Given the description of an element on the screen output the (x, y) to click on. 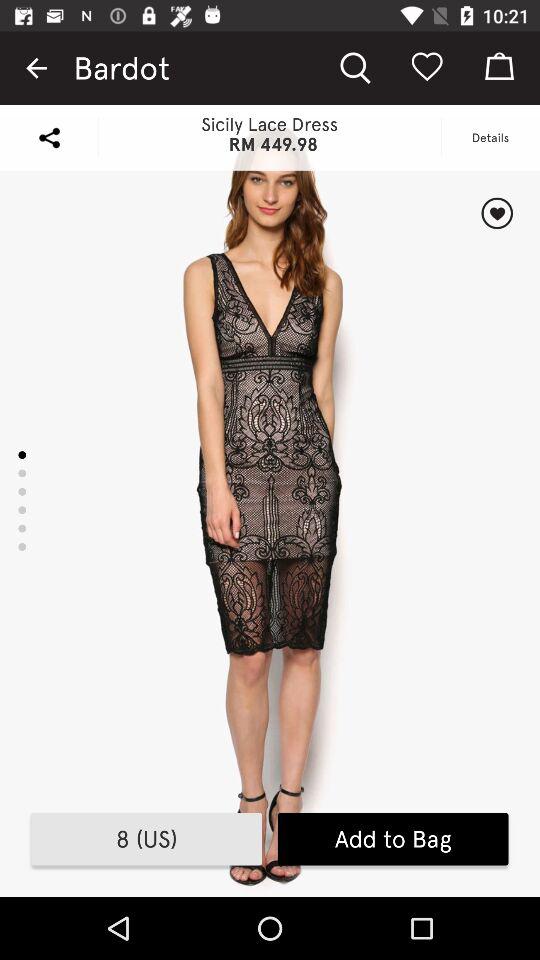
like the item (496, 213)
